Given the description of an element on the screen output the (x, y) to click on. 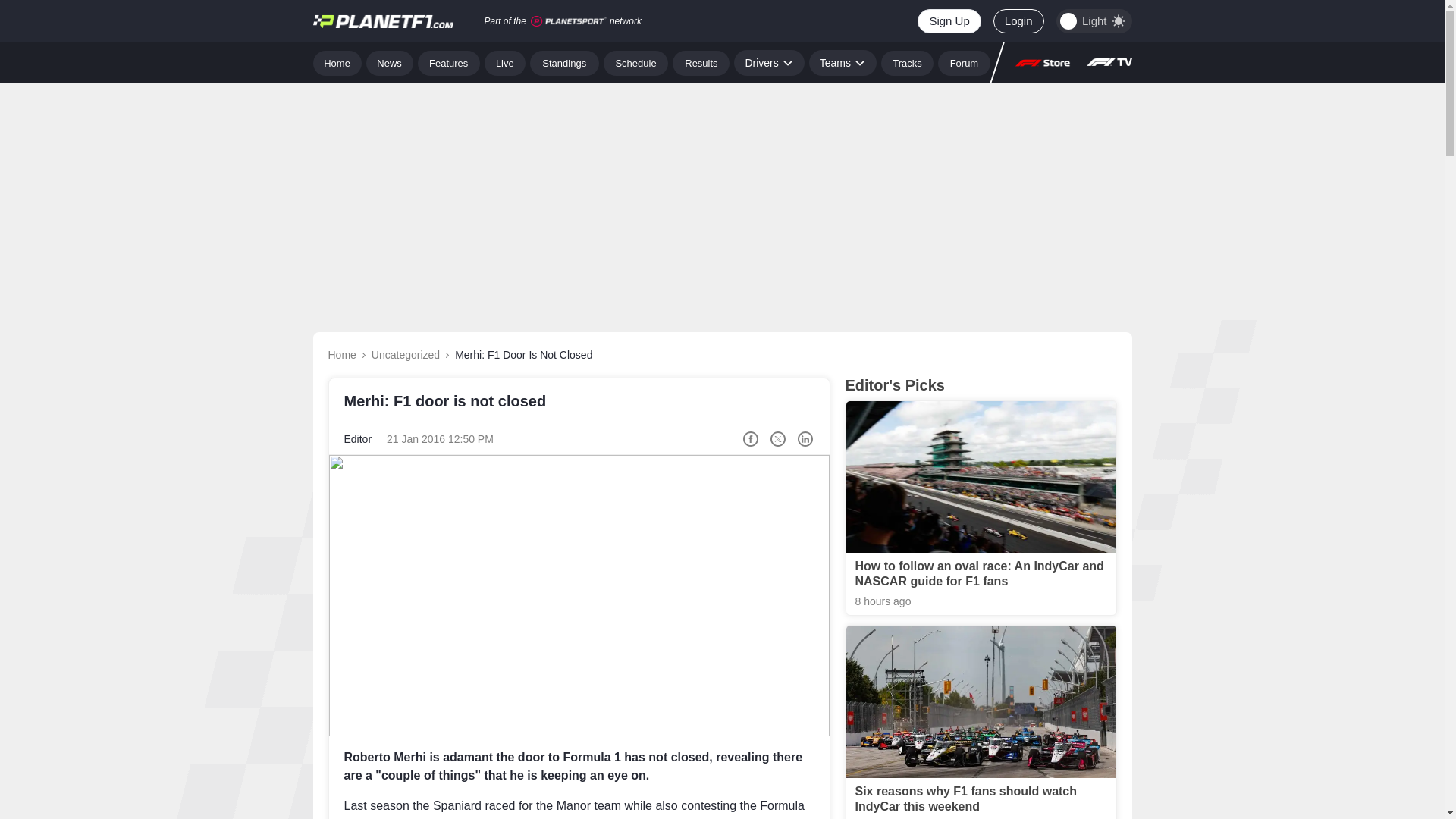
News (389, 62)
Sign Up (948, 21)
Results (700, 62)
Live (504, 62)
Home (337, 62)
Schedule (636, 62)
Login (1017, 21)
Standings (563, 62)
Drivers (768, 62)
Teams (842, 62)
